Given the description of an element on the screen output the (x, y) to click on. 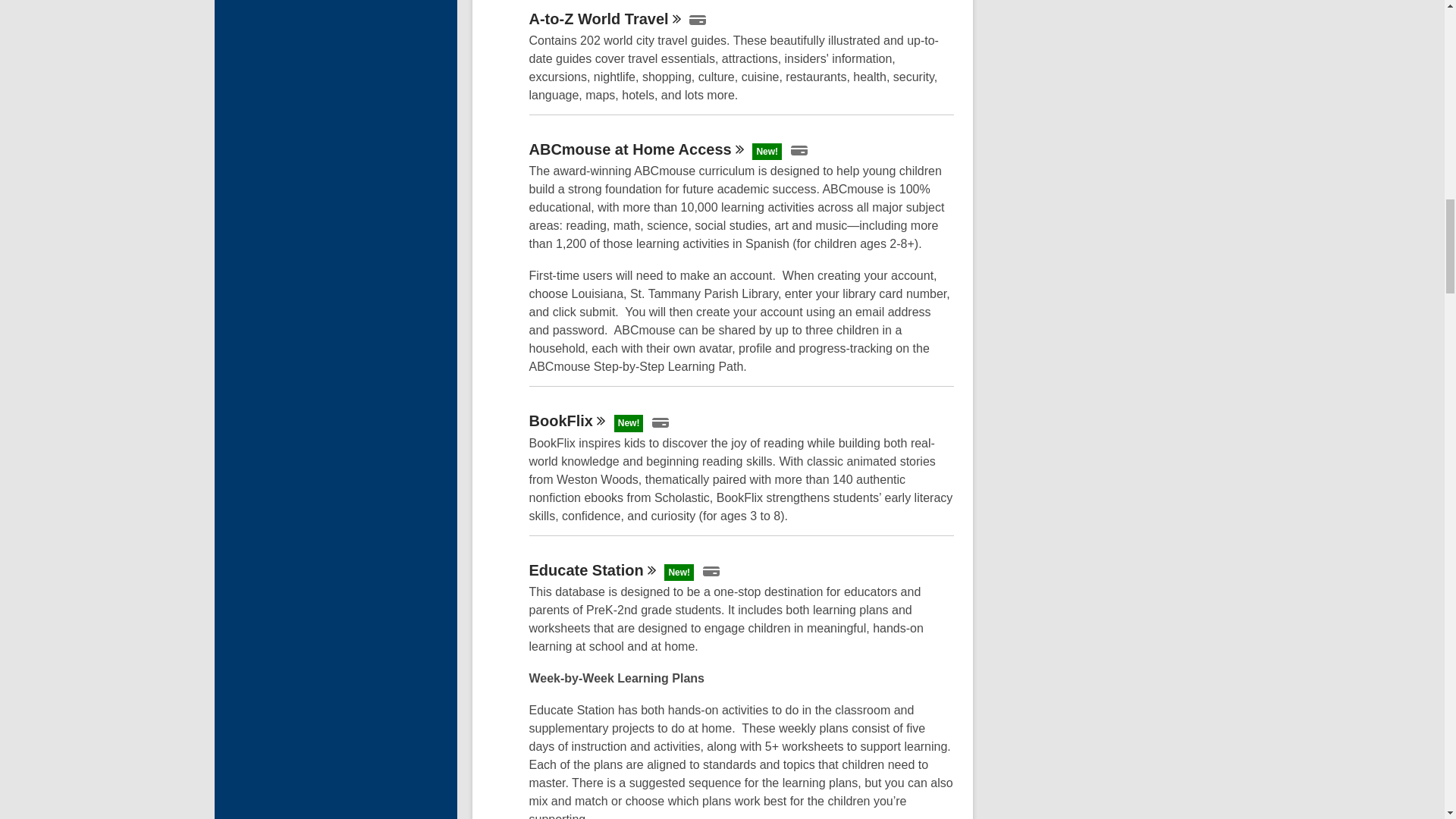
Library Card Required (799, 150)
Library Card Required (697, 20)
